Given the description of an element on the screen output the (x, y) to click on. 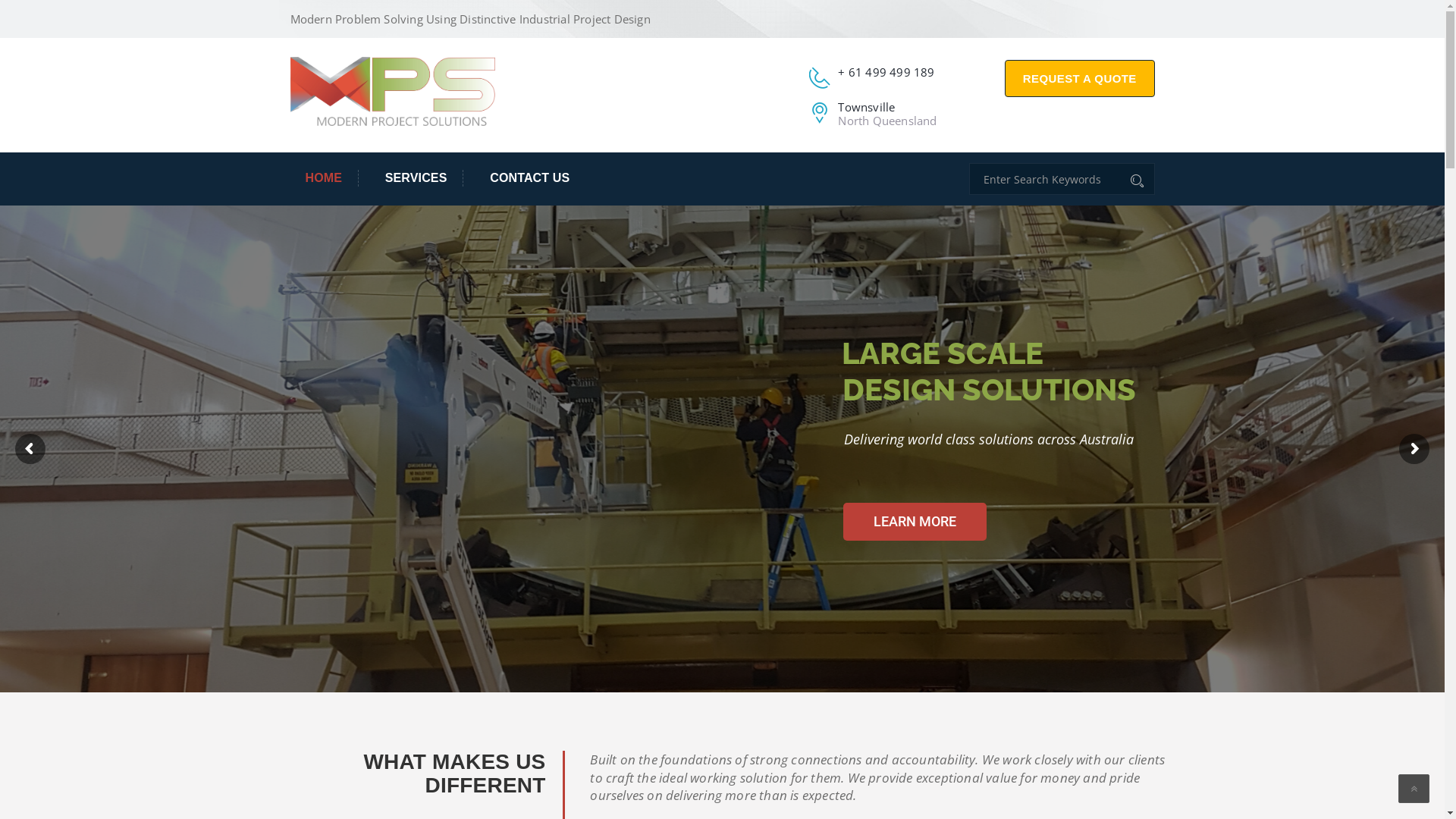
REQUEST A QUOTE Element type: text (1079, 78)
LEARN MORE Element type: text (914, 521)
SERVICES Element type: text (416, 178)
Modern Project Solutions Element type: hover (391, 90)
HOME Element type: text (330, 178)
CONTACT US Element type: text (521, 178)
